Given the description of an element on the screen output the (x, y) to click on. 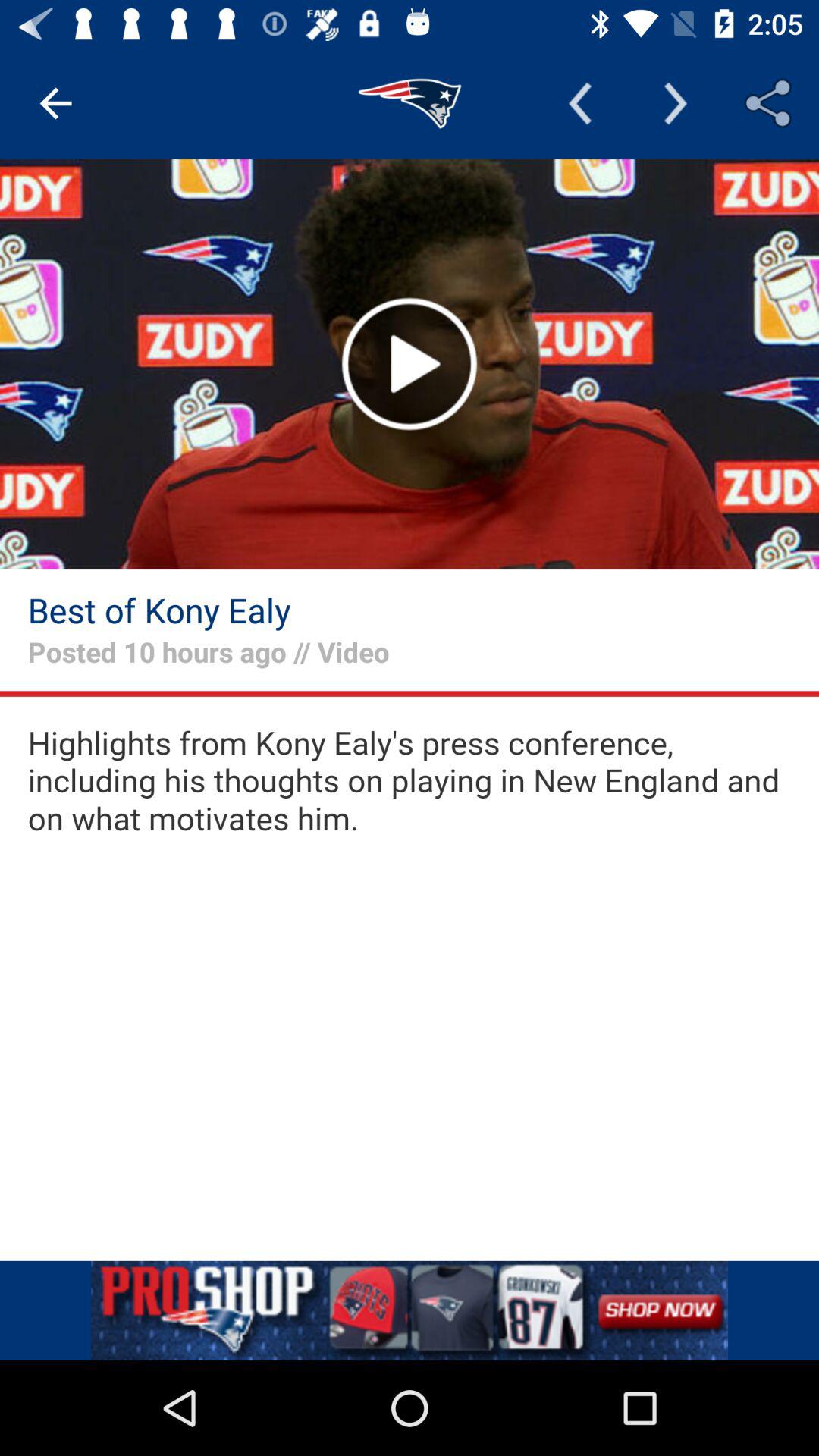
view advertisement (409, 1310)
